Given the description of an element on the screen output the (x, y) to click on. 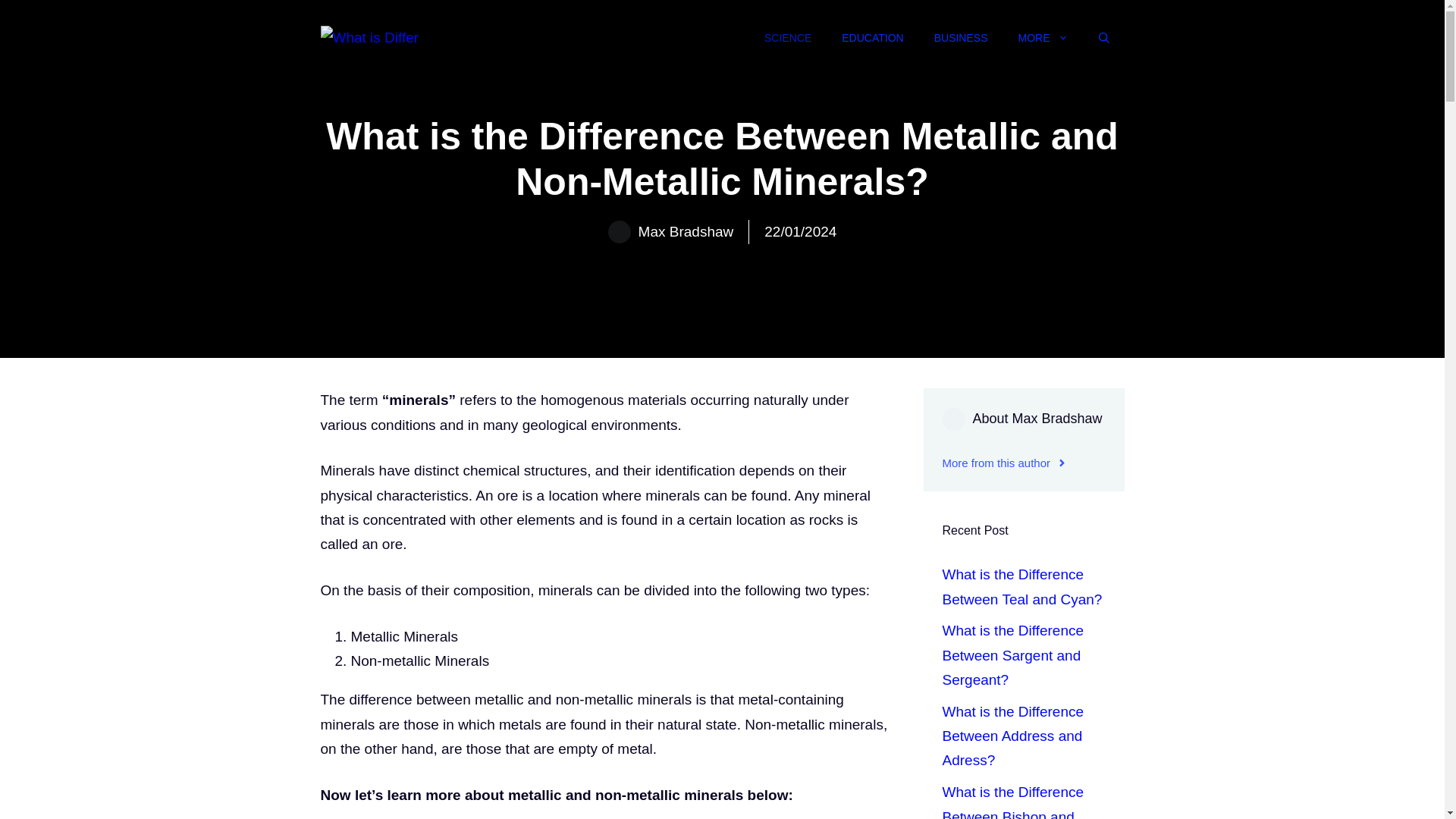
EDUCATION (872, 37)
BUSINESS (960, 37)
SCIENCE (788, 37)
MORE (1043, 37)
